Given the description of an element on the screen output the (x, y) to click on. 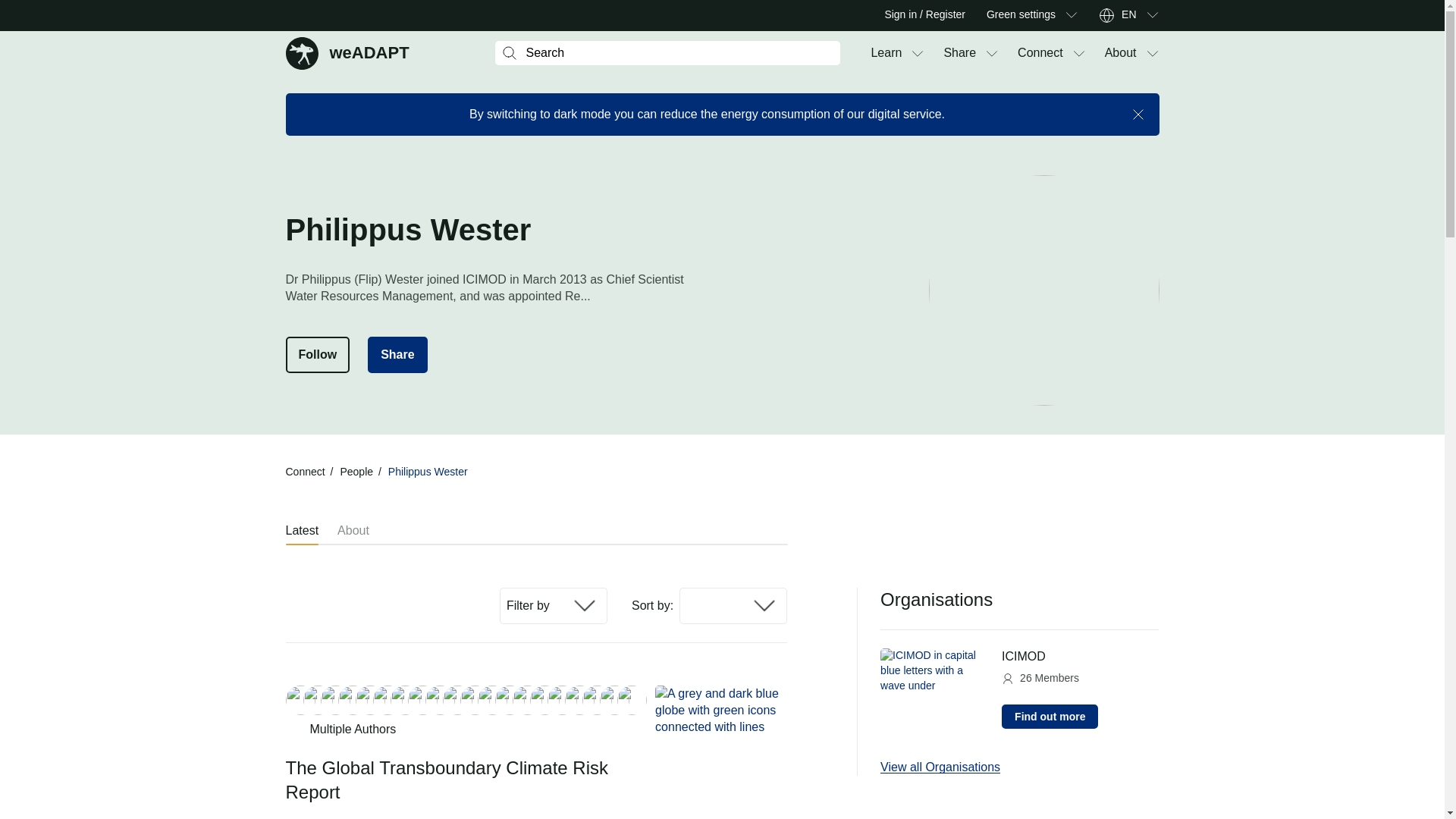
Connect (1039, 53)
EN (1128, 14)
Share (959, 53)
Learn (885, 53)
Translate Submenu (1151, 14)
Green settings (1021, 14)
About (347, 52)
Submenu (1121, 53)
